Given the description of an element on the screen output the (x, y) to click on. 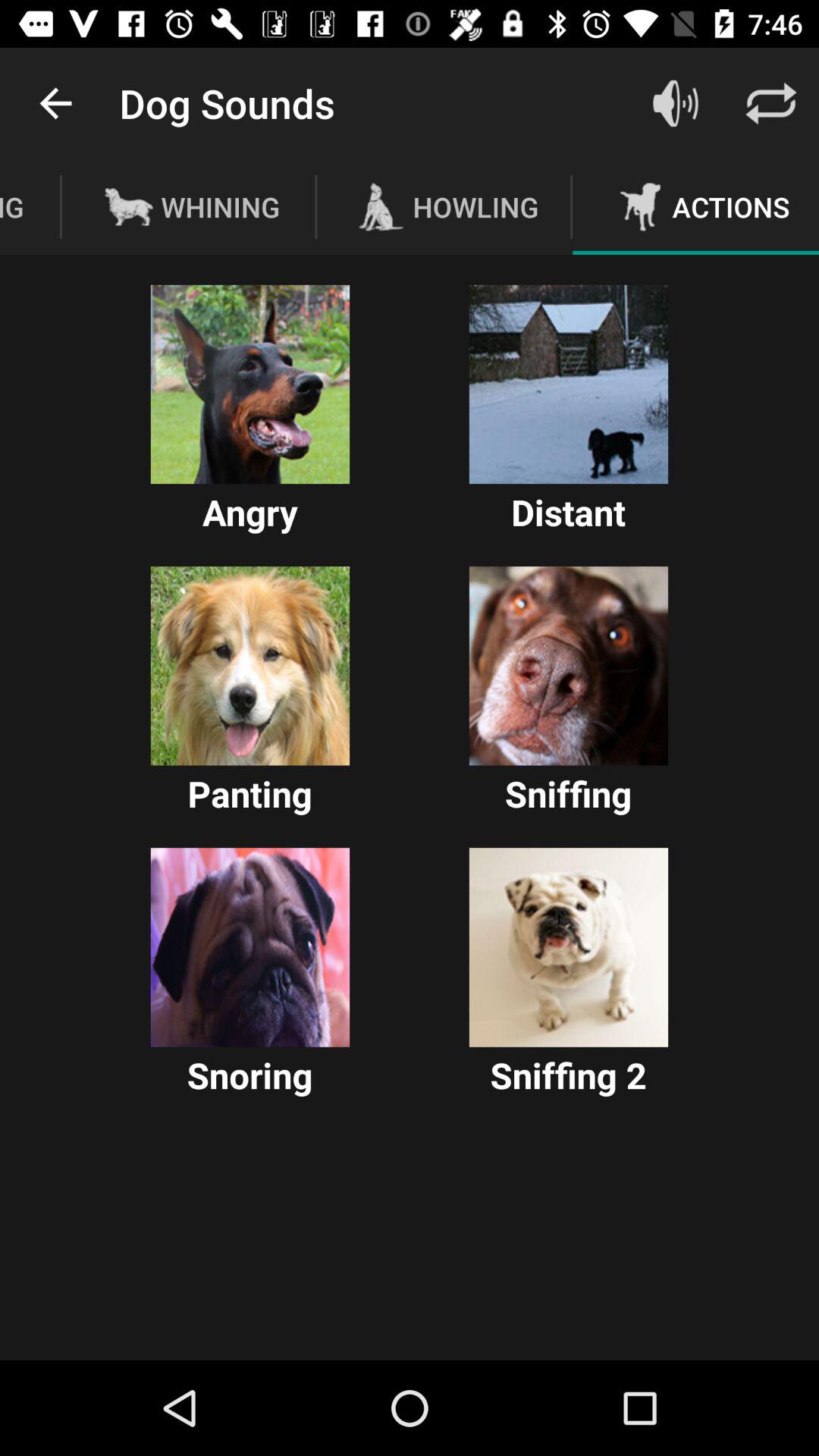
click the icon above actions (675, 103)
